Given the description of an element on the screen output the (x, y) to click on. 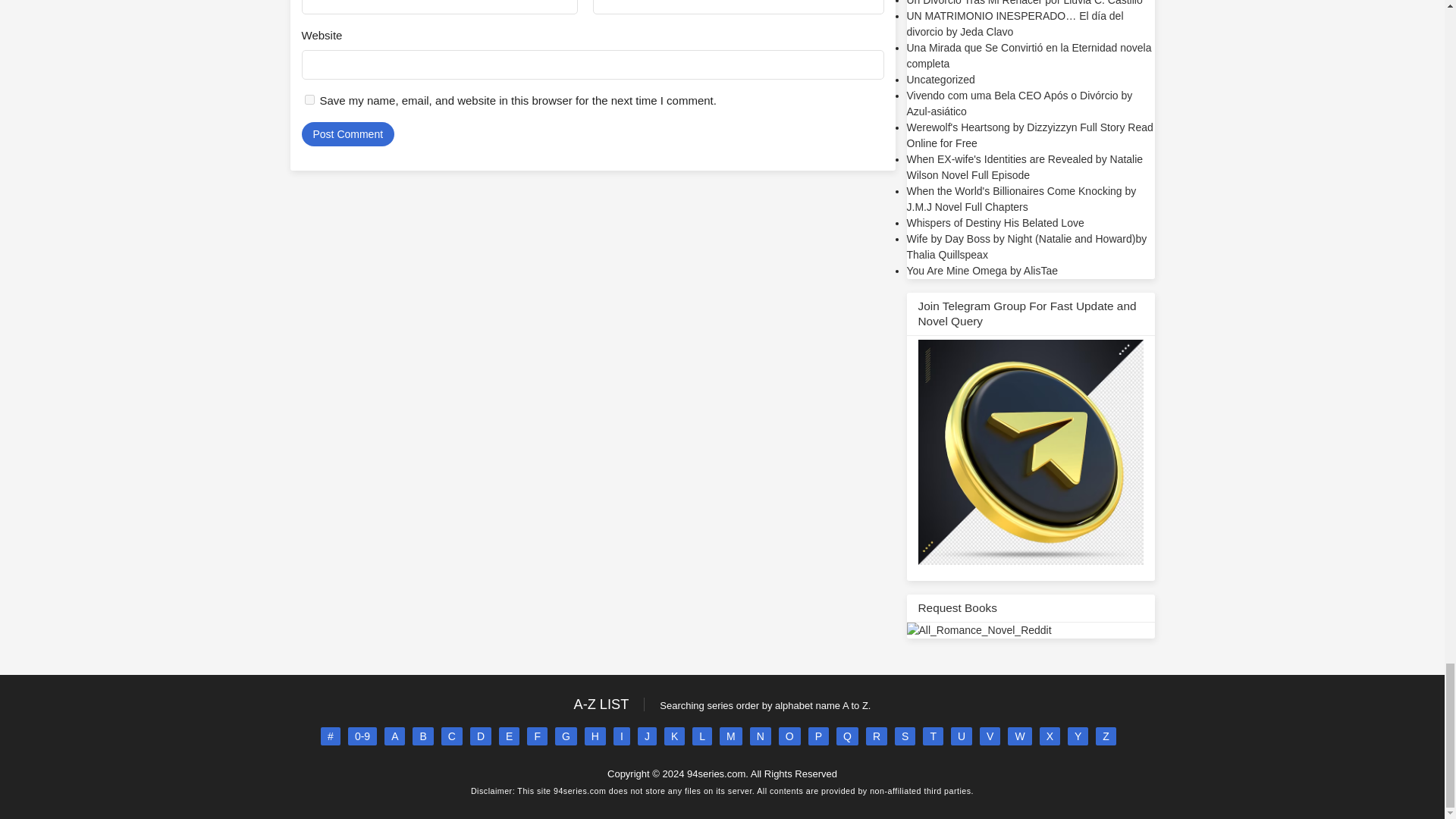
Post Comment (347, 134)
yes (309, 99)
Post Comment (347, 134)
